Given the description of an element on the screen output the (x, y) to click on. 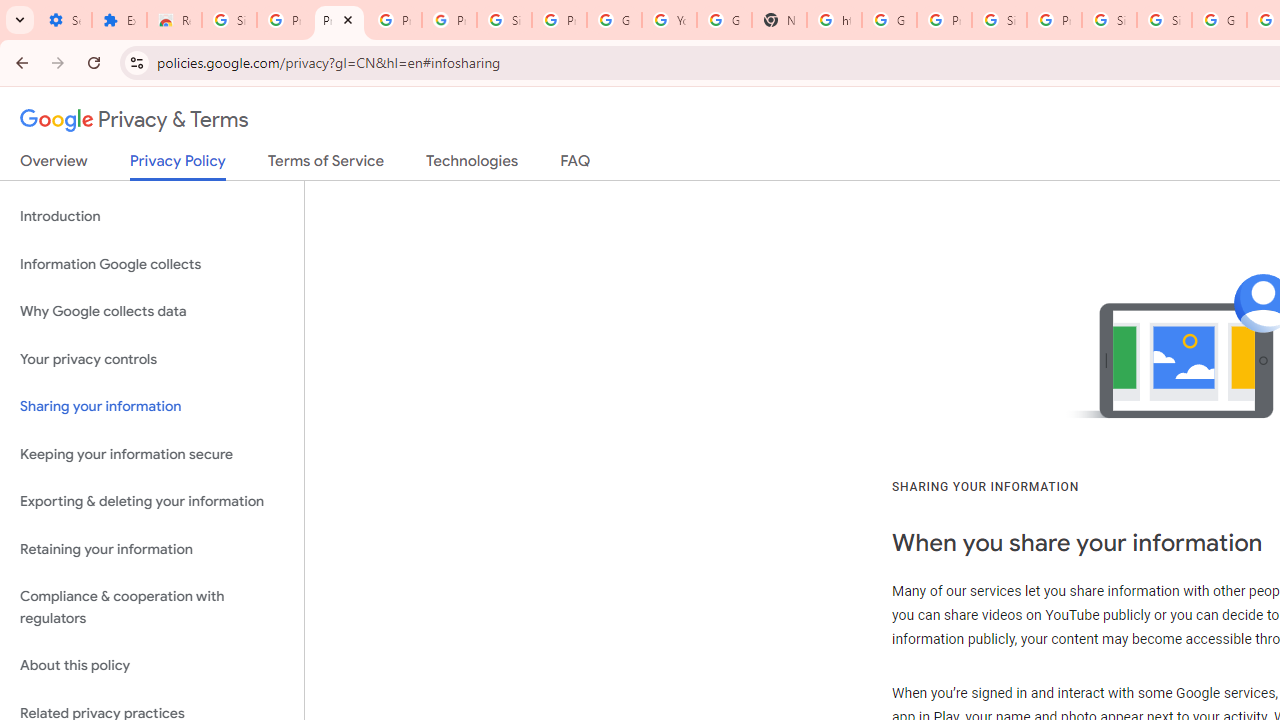
Reviews: Helix Fruit Jump Arcade Game (174, 20)
